Given the description of an element on the screen output the (x, y) to click on. 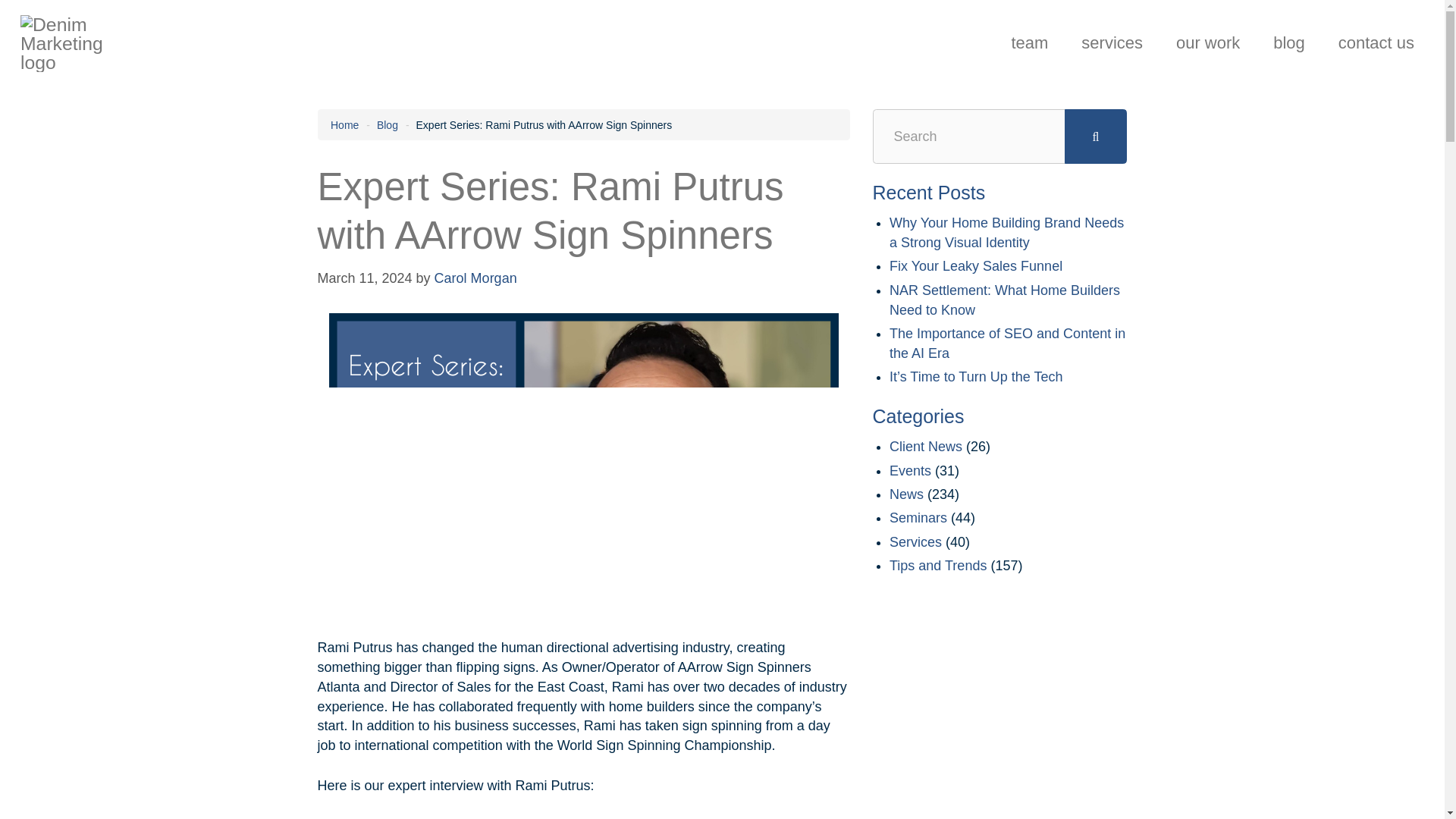
Home (344, 123)
Client News (925, 446)
Events (910, 470)
Services (1111, 42)
News (906, 494)
contact us (1376, 42)
Seminars (918, 517)
Why Your Home Building Brand Needs a Strong Visual Identity (1006, 232)
Carol Morgan (474, 278)
Blog (387, 123)
our work (1207, 42)
Tips and Trends (938, 565)
Services (915, 540)
The Importance of SEO and Content in the AI Era (1007, 343)
Fix Your Leaky Sales Funnel (975, 265)
